Given the description of an element on the screen output the (x, y) to click on. 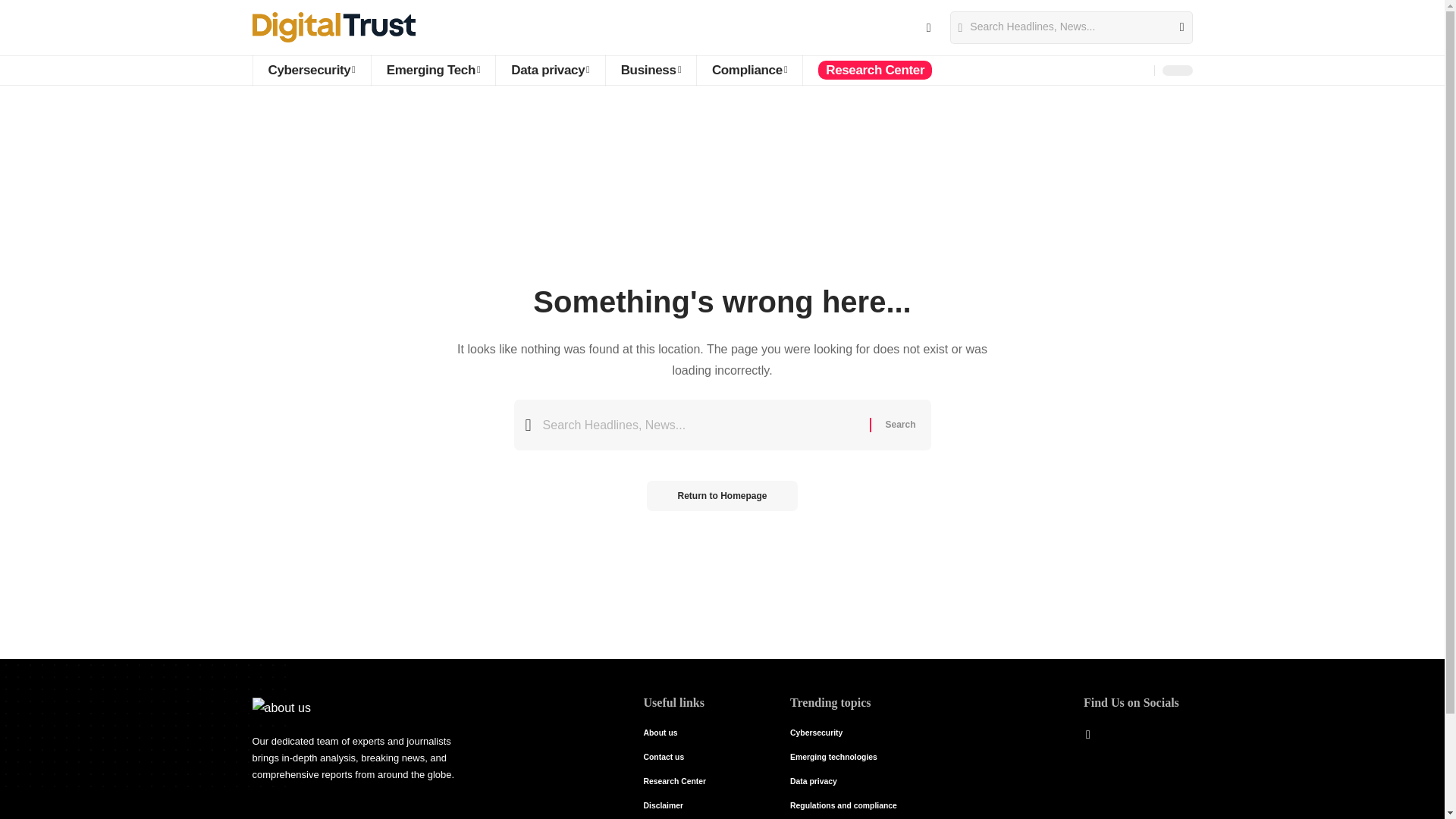
Emerging Tech (433, 70)
Compliance (748, 70)
Research Center (874, 70)
Search (1175, 27)
Data privacy (549, 70)
Digital Trust (332, 27)
Search (899, 424)
Cybersecurity (310, 70)
Business (650, 70)
